Given the description of an element on the screen output the (x, y) to click on. 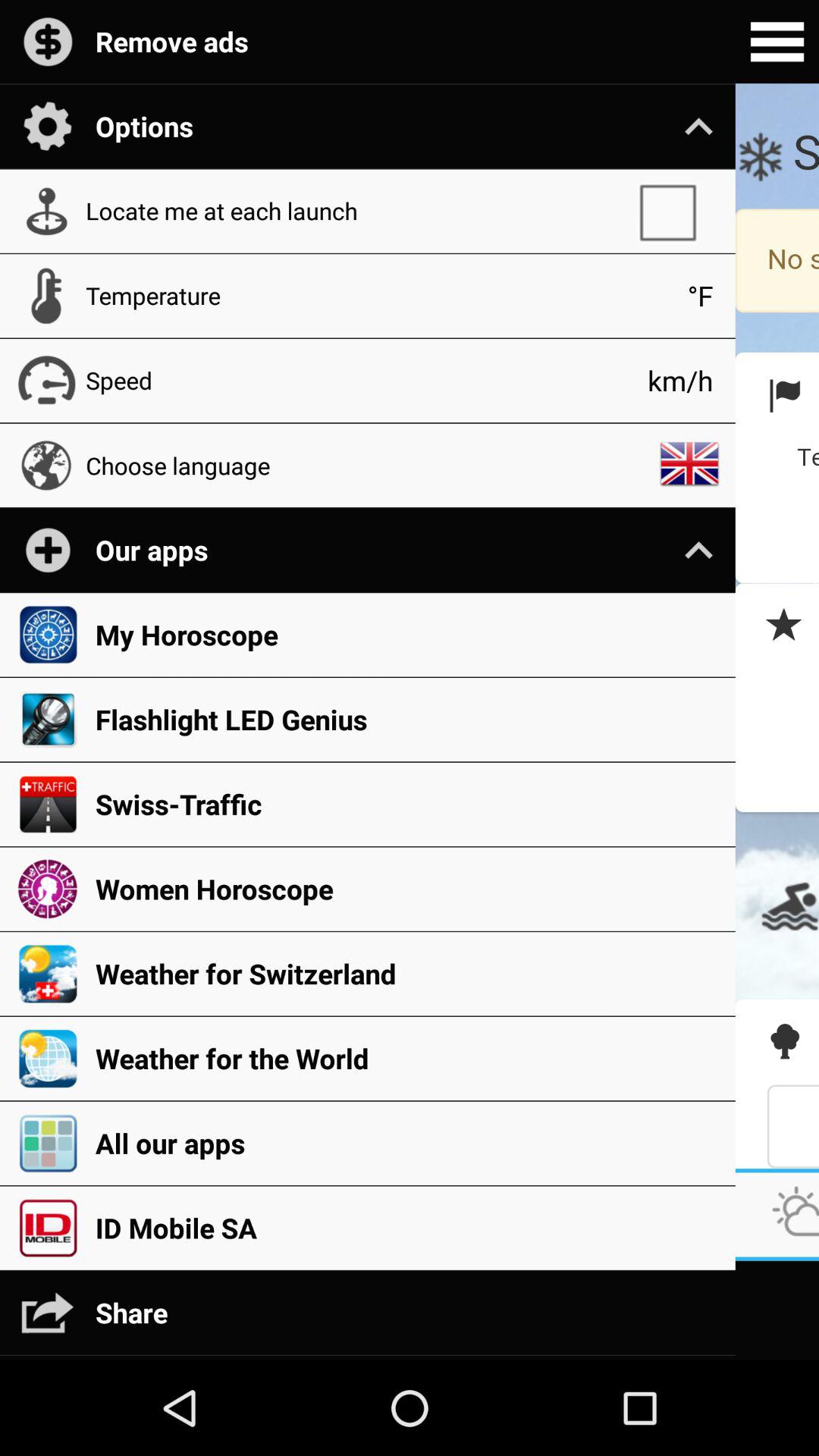
selection box (675, 211)
